Given the description of an element on the screen output the (x, y) to click on. 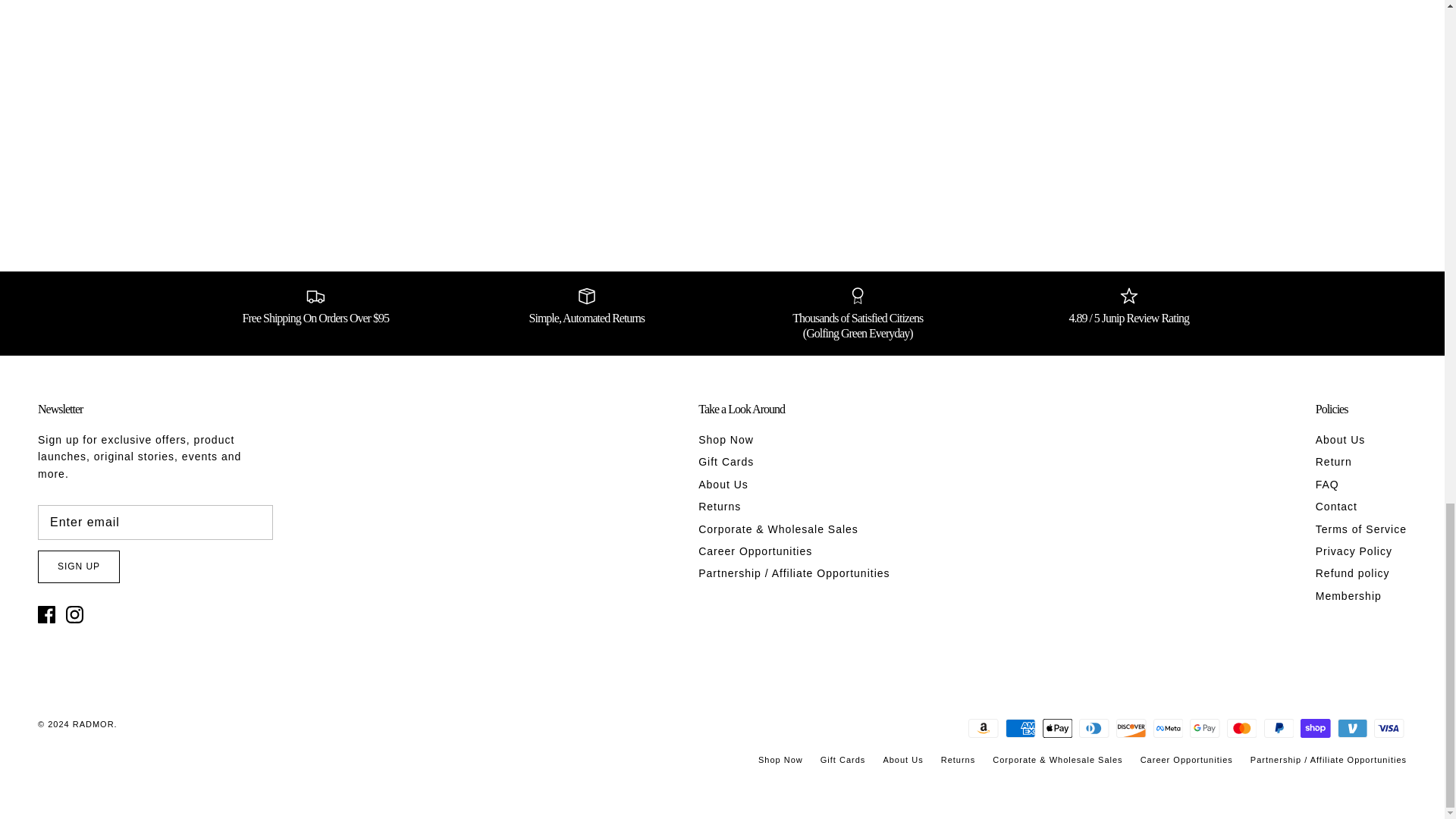
American Express (1020, 728)
Amazon (983, 728)
Instagram (73, 614)
Facebook (46, 614)
Diners Club (1093, 728)
Apple Pay (1057, 728)
